Given the description of an element on the screen output the (x, y) to click on. 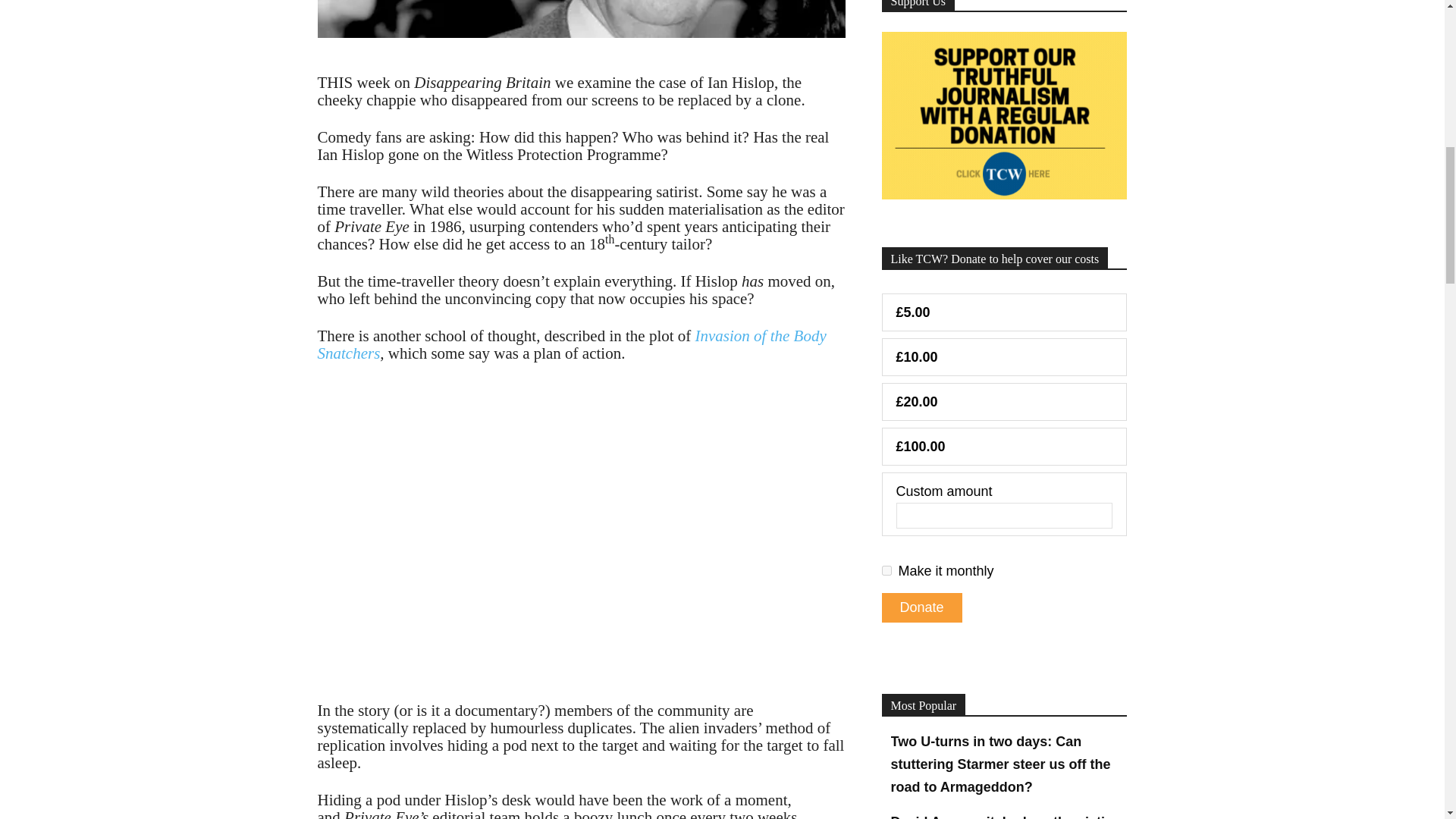
month (885, 570)
